Given the description of an element on the screen output the (x, y) to click on. 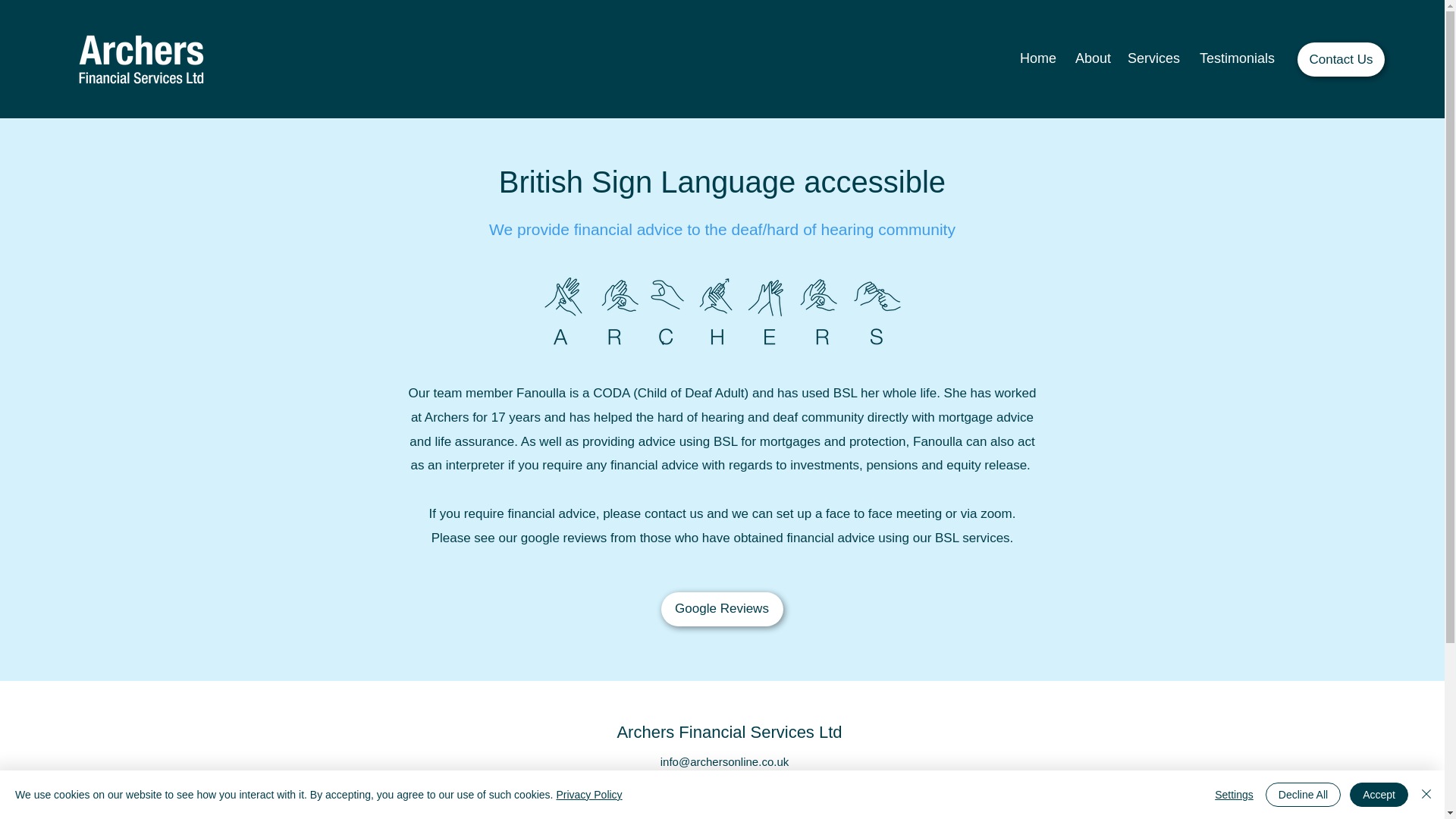
Decline All (1302, 794)
Privacy Policy (588, 794)
Google Reviews (722, 609)
Contact Us (1340, 59)
About (1091, 58)
Accept (1378, 794)
Testimonials (1235, 58)
Services (1153, 58)
Home (1037, 58)
